Given the description of an element on the screen output the (x, y) to click on. 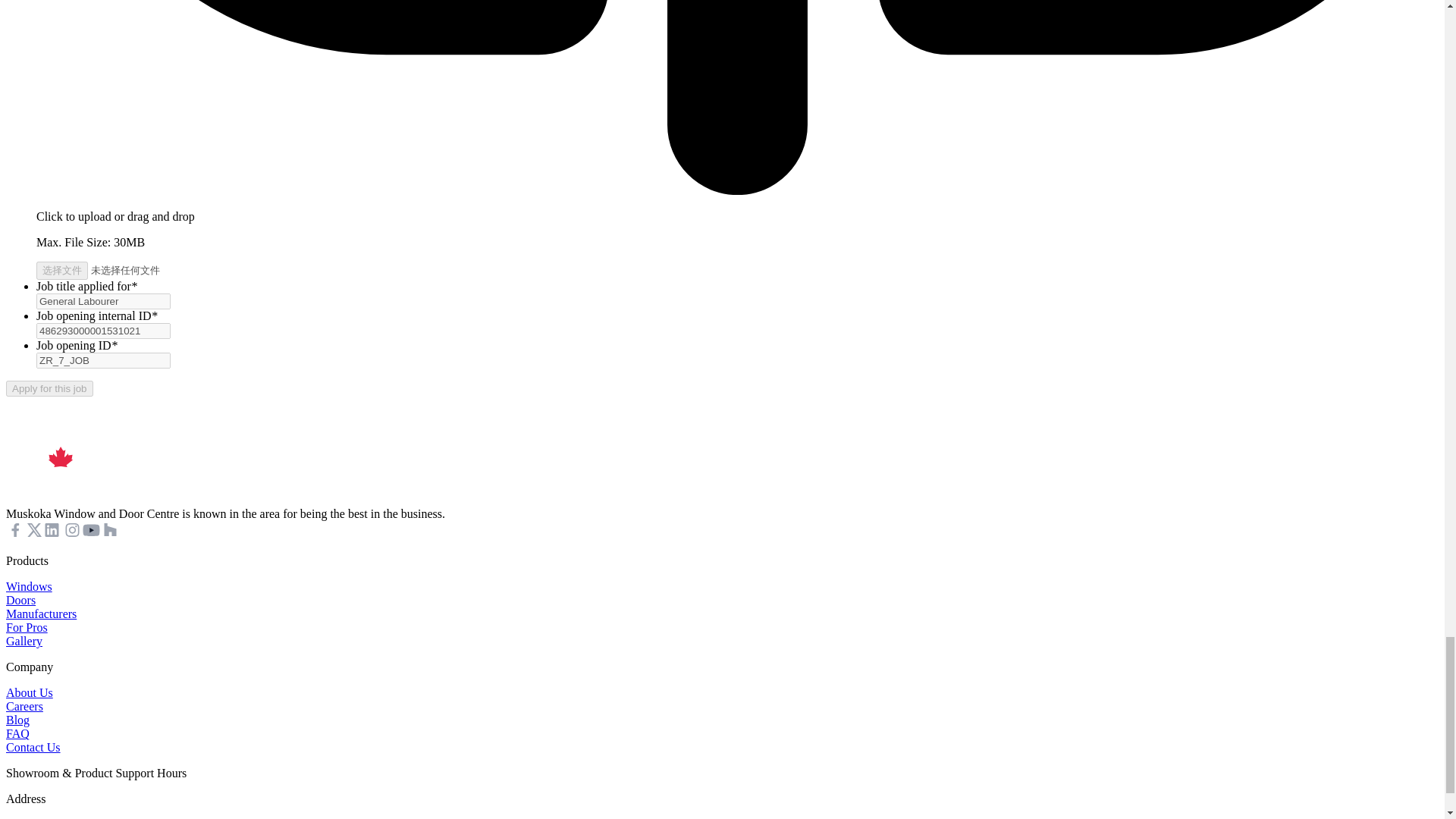
486293000001531021 (103, 330)
test (132, 270)
General Labourer (103, 301)
